Given the description of an element on the screen output the (x, y) to click on. 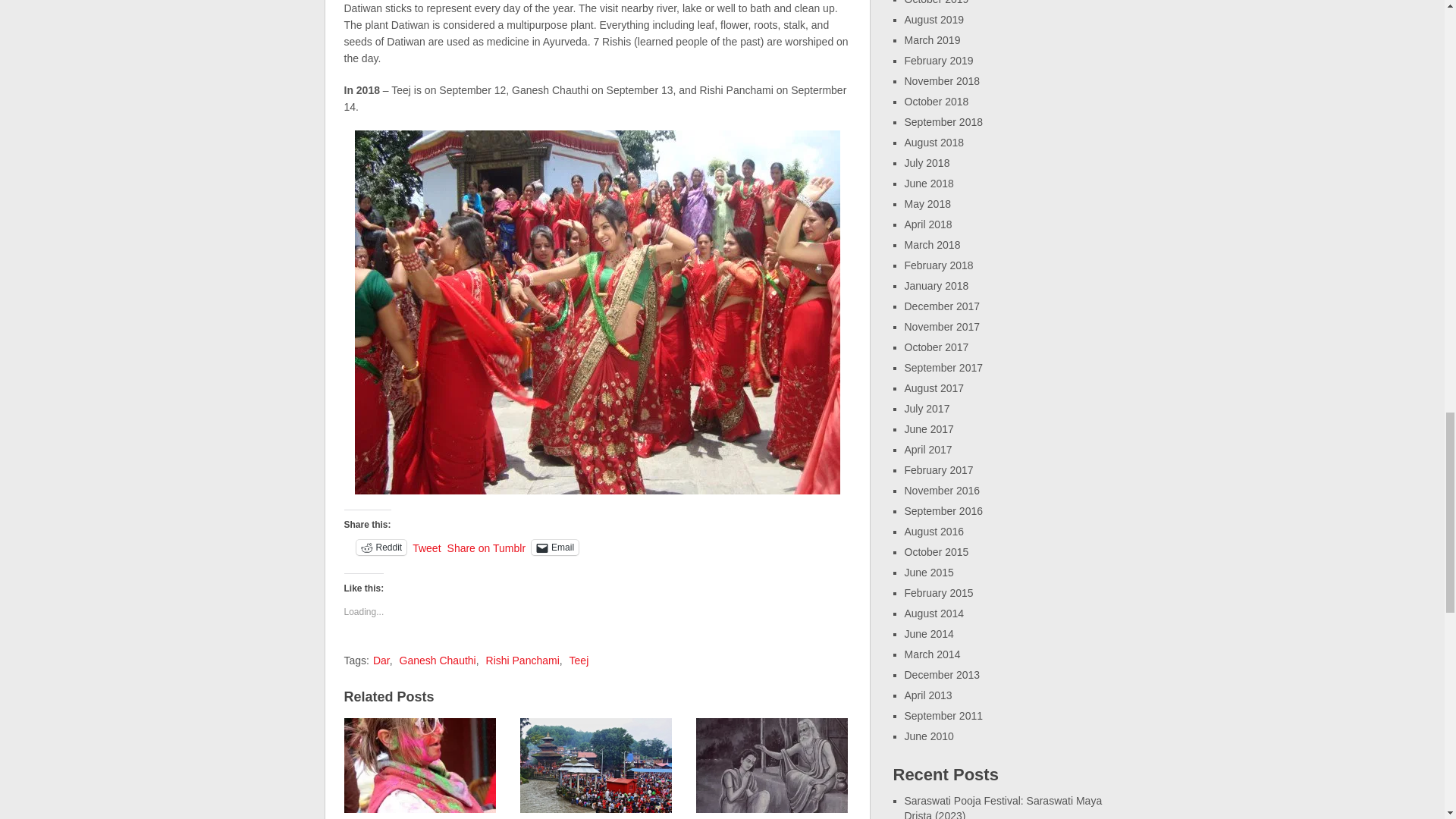
Teej (579, 660)
Rishi Panchami (522, 660)
Reddit (381, 547)
Click to share on Reddit (381, 547)
Share on Tumblr (485, 546)
Dar (381, 660)
Click to email a link to a friend (554, 547)
Ganesh Chauthi (437, 660)
Share on Tumblr (485, 546)
Tweet (426, 546)
